Given the description of an element on the screen output the (x, y) to click on. 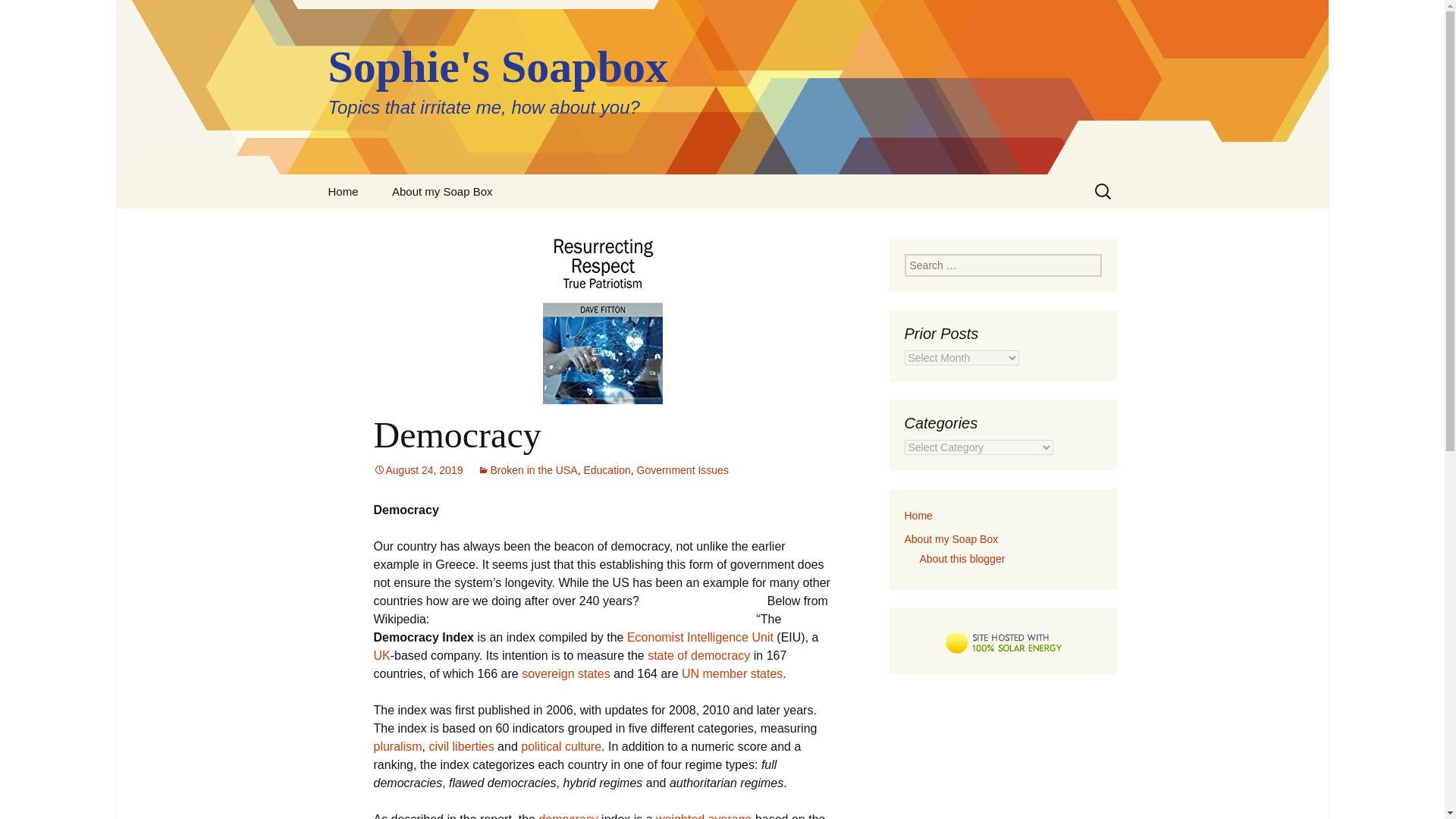
democracy (567, 816)
Economist Intelligence Unit (700, 636)
Search (18, 15)
UK (381, 655)
sovereign states (565, 673)
August 24, 2019 (417, 469)
weighted average (703, 816)
civil liberties (460, 746)
Broken in the USA (526, 469)
Home (342, 191)
political culture (561, 746)
Home (917, 515)
Permalink to Democracy (417, 469)
UN member states (732, 673)
state of democracy (698, 655)
